Given the description of an element on the screen output the (x, y) to click on. 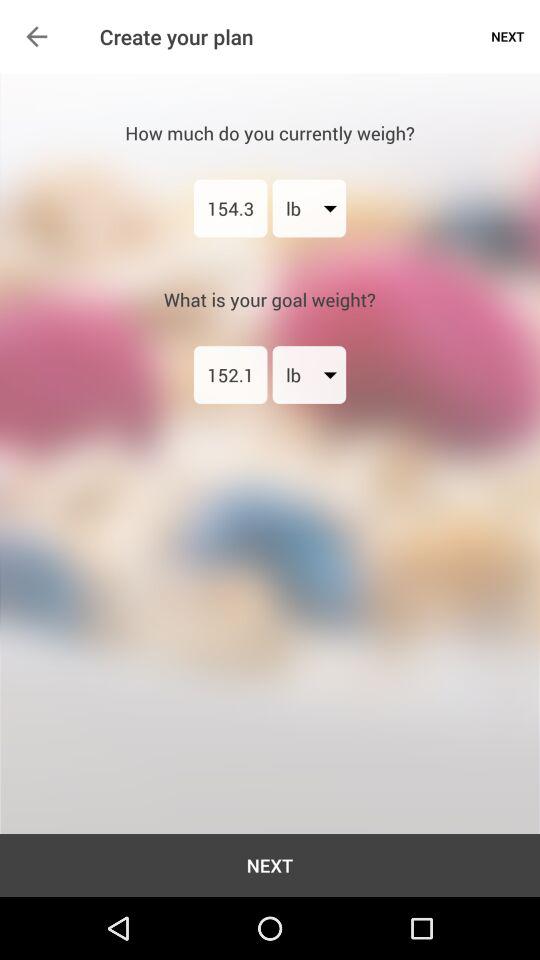
choose item above next (36, 36)
